Given the description of an element on the screen output the (x, y) to click on. 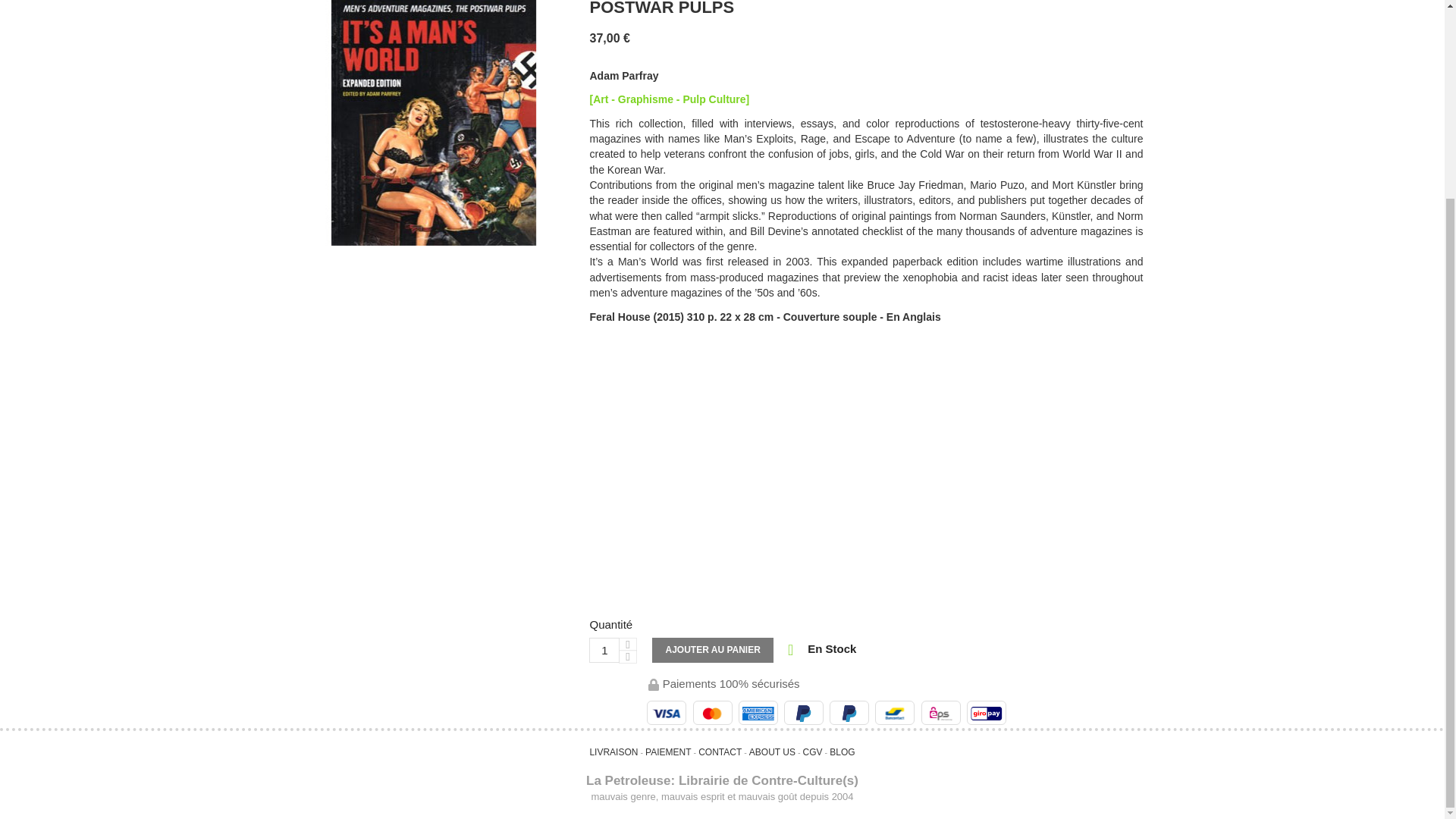
1 (604, 650)
